Given the description of an element on the screen output the (x, y) to click on. 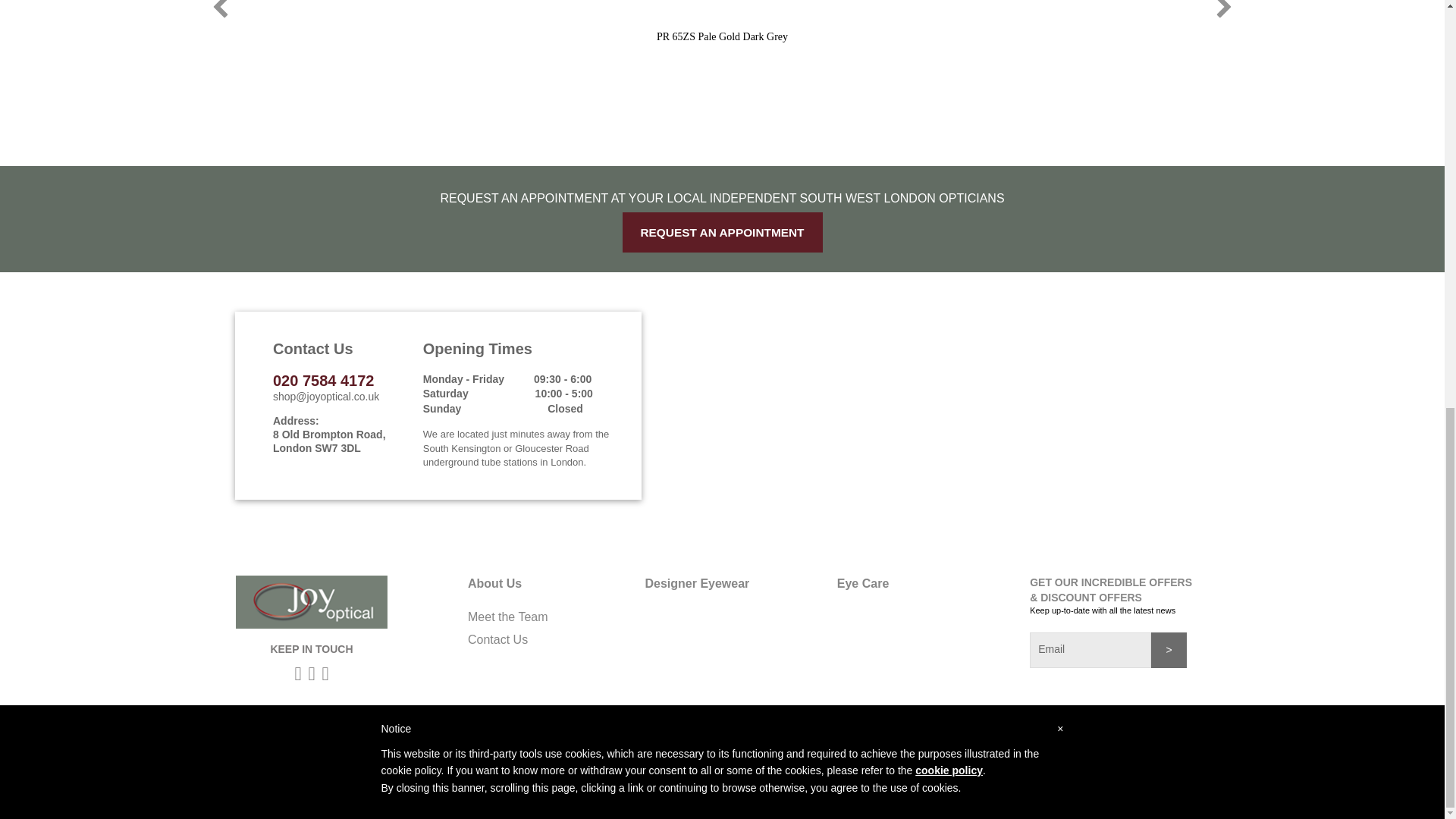
Cookie Policy (767, 748)
logo-footer (311, 601)
Privacy Policy (675, 748)
